Given the description of an element on the screen output the (x, y) to click on. 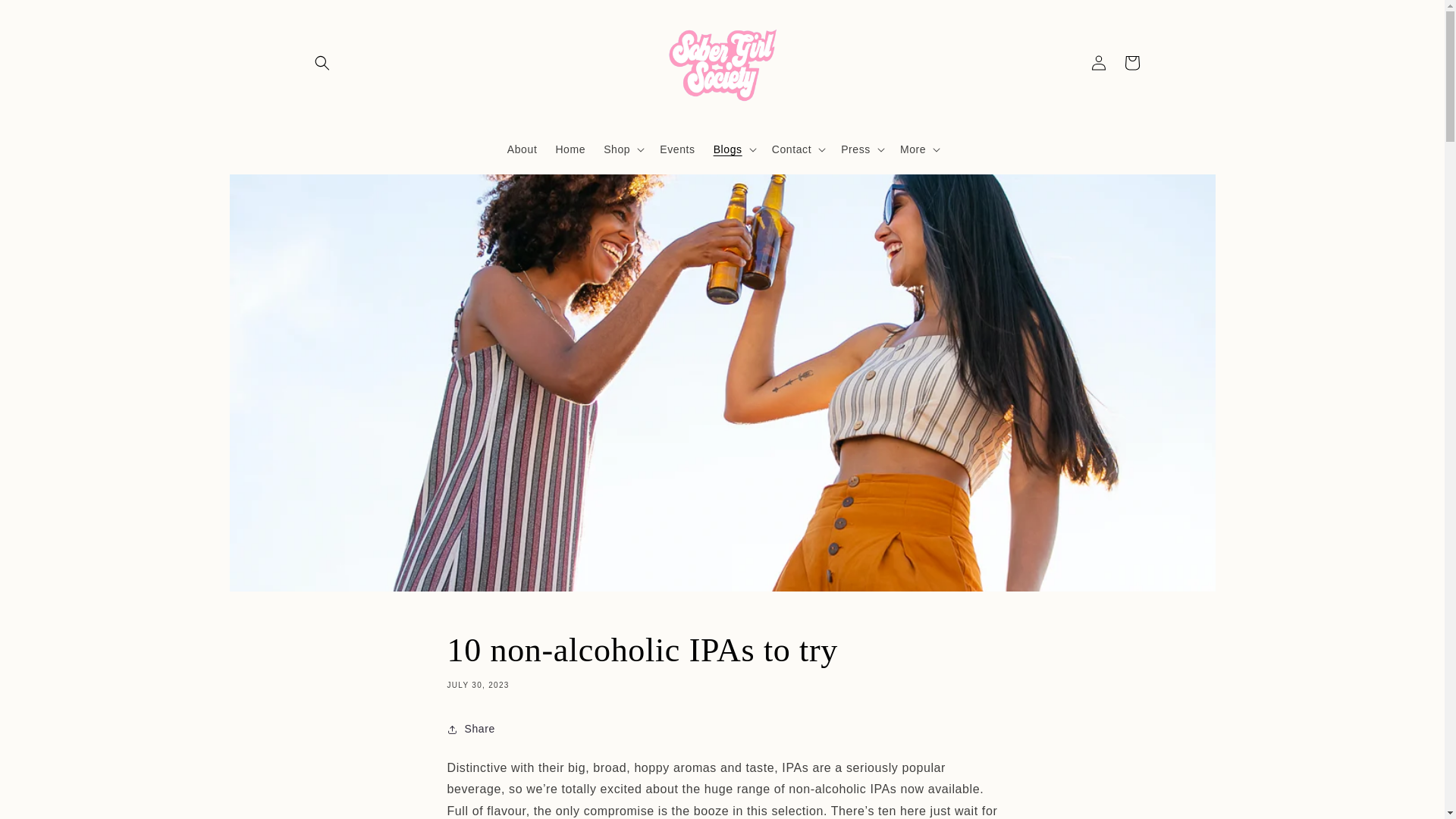
About (522, 149)
Events (676, 149)
Skip to content (45, 17)
Home (570, 149)
